Given the description of an element on the screen output the (x, y) to click on. 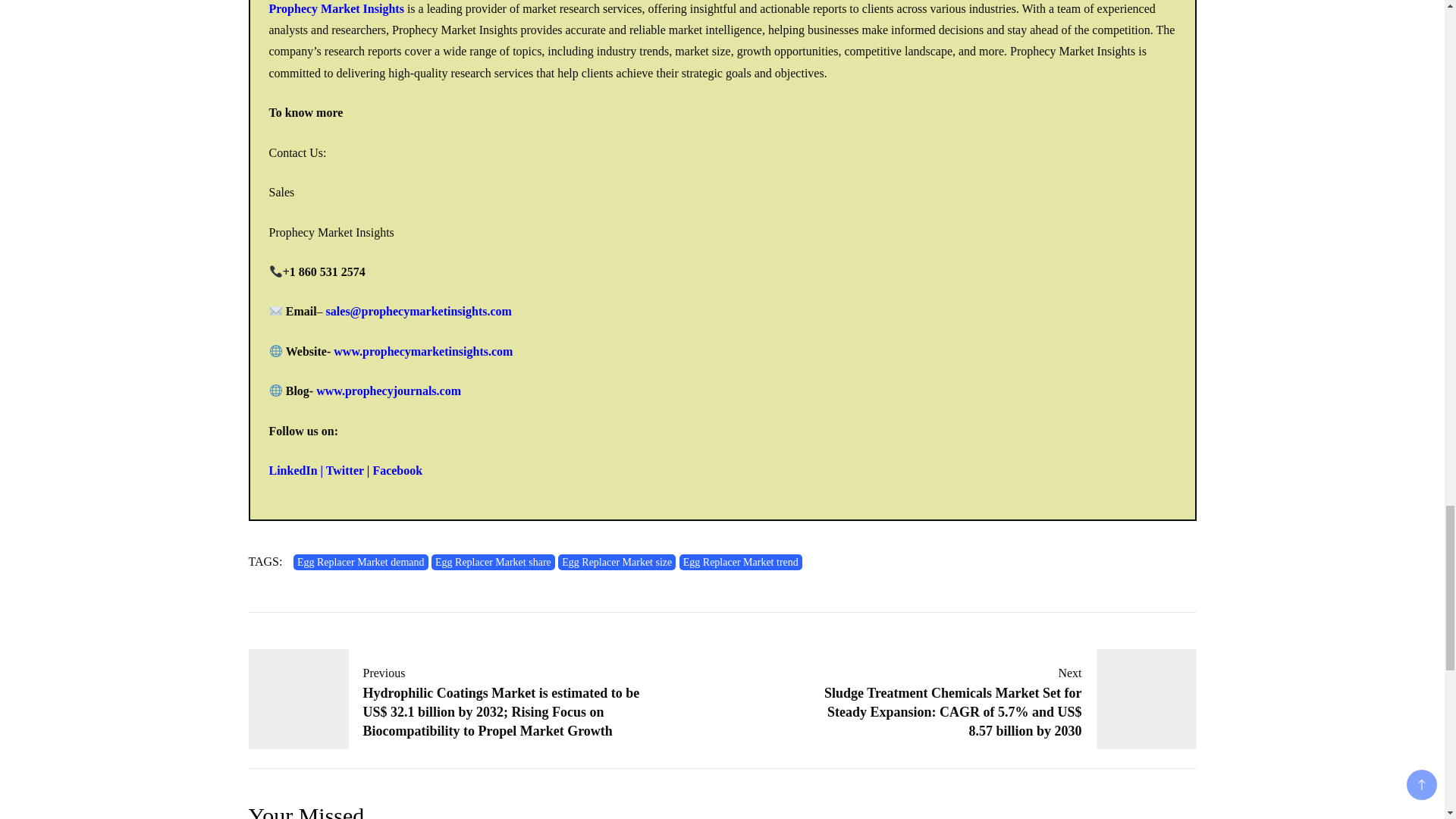
www.prophecyjournals.com (388, 390)
Egg Replacer Market trend (740, 562)
Facebook (397, 470)
Egg Replacer Market size (616, 562)
LinkedIn (292, 470)
Egg Replacer Market share (492, 562)
Egg Replacer Market demand (361, 562)
www.prophecymarketinsights.com (422, 350)
Twitter (345, 470)
Prophecy Market Insights (335, 8)
